Given the description of an element on the screen output the (x, y) to click on. 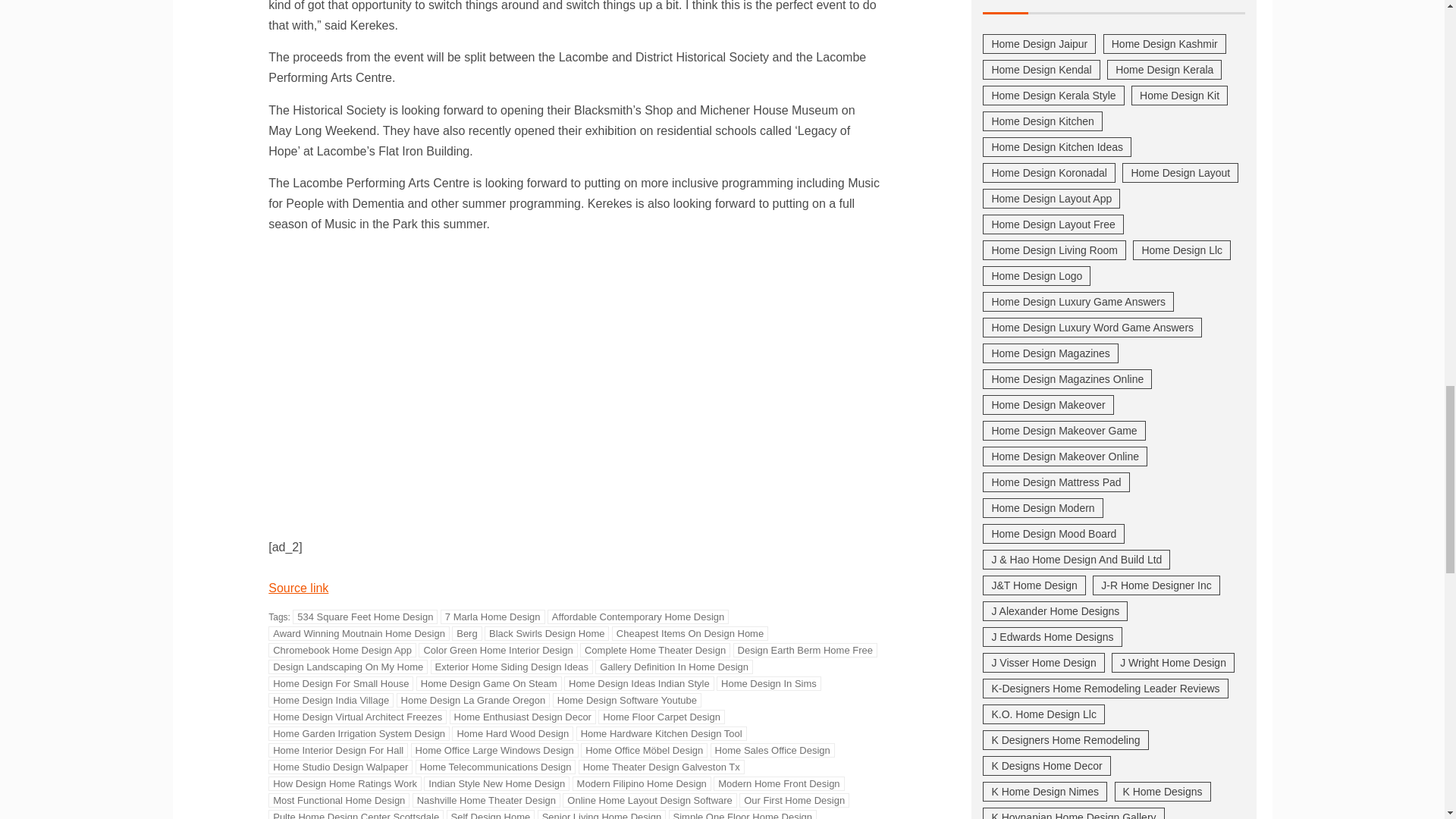
Chromebook Home Design App (341, 649)
Affordable Contemporary Home Design (638, 616)
Black Swirls Design Home (546, 633)
Award Winning Moutnain Home Design (358, 633)
Color Green Home Interior Design (497, 649)
Design Landscaping On My Home (347, 667)
Cheapest Items On Design Home (689, 633)
Complete Home Theater Design (654, 649)
Design Earth Berm Home Free (805, 649)
Heritage Fashion Show 2022 (510, 382)
